Given the description of an element on the screen output the (x, y) to click on. 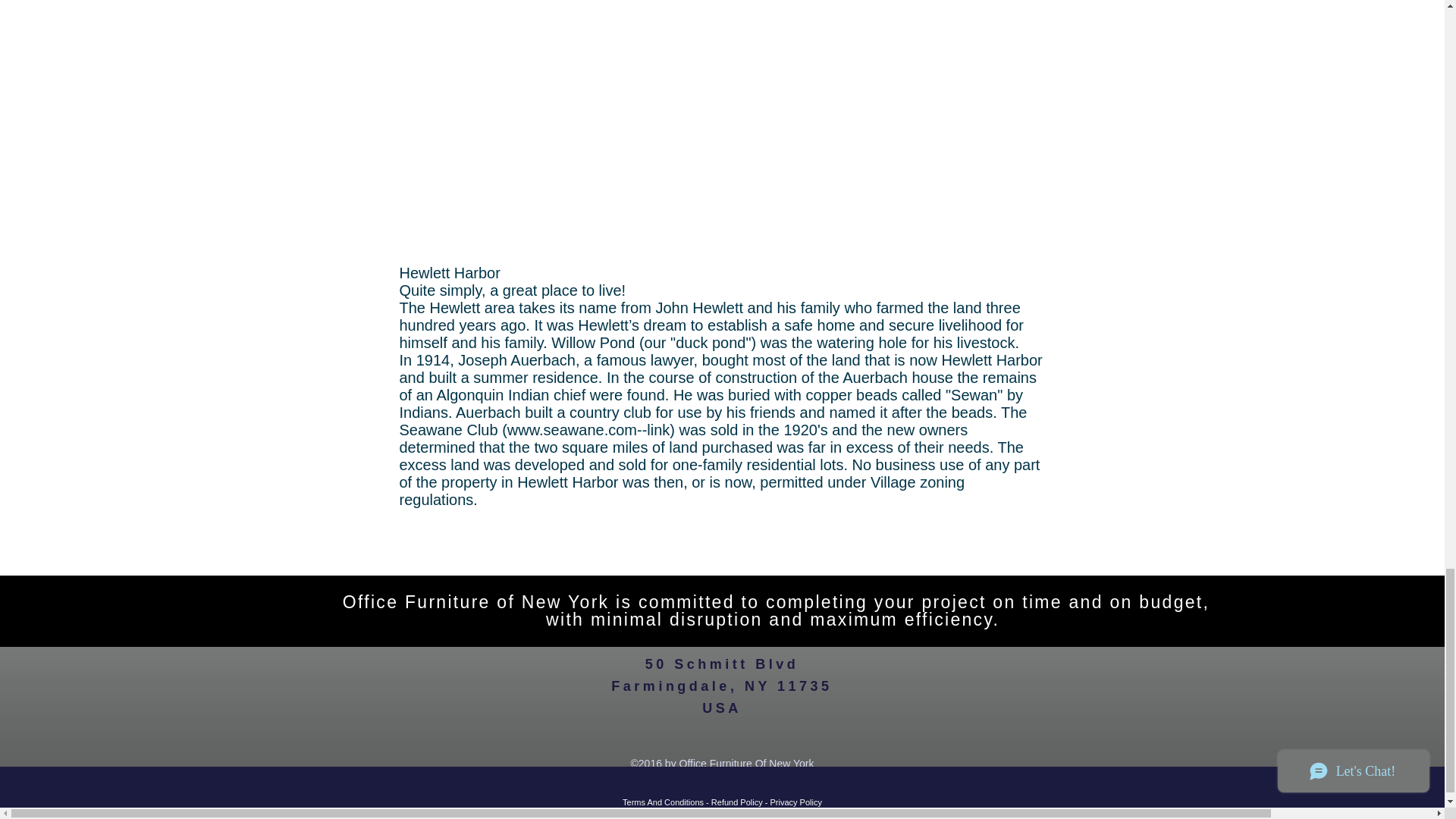
Terms And Conditions - Refund Policy - Privacy Policy (722, 801)
www.seawane.com--link (587, 429)
